Given the description of an element on the screen output the (x, y) to click on. 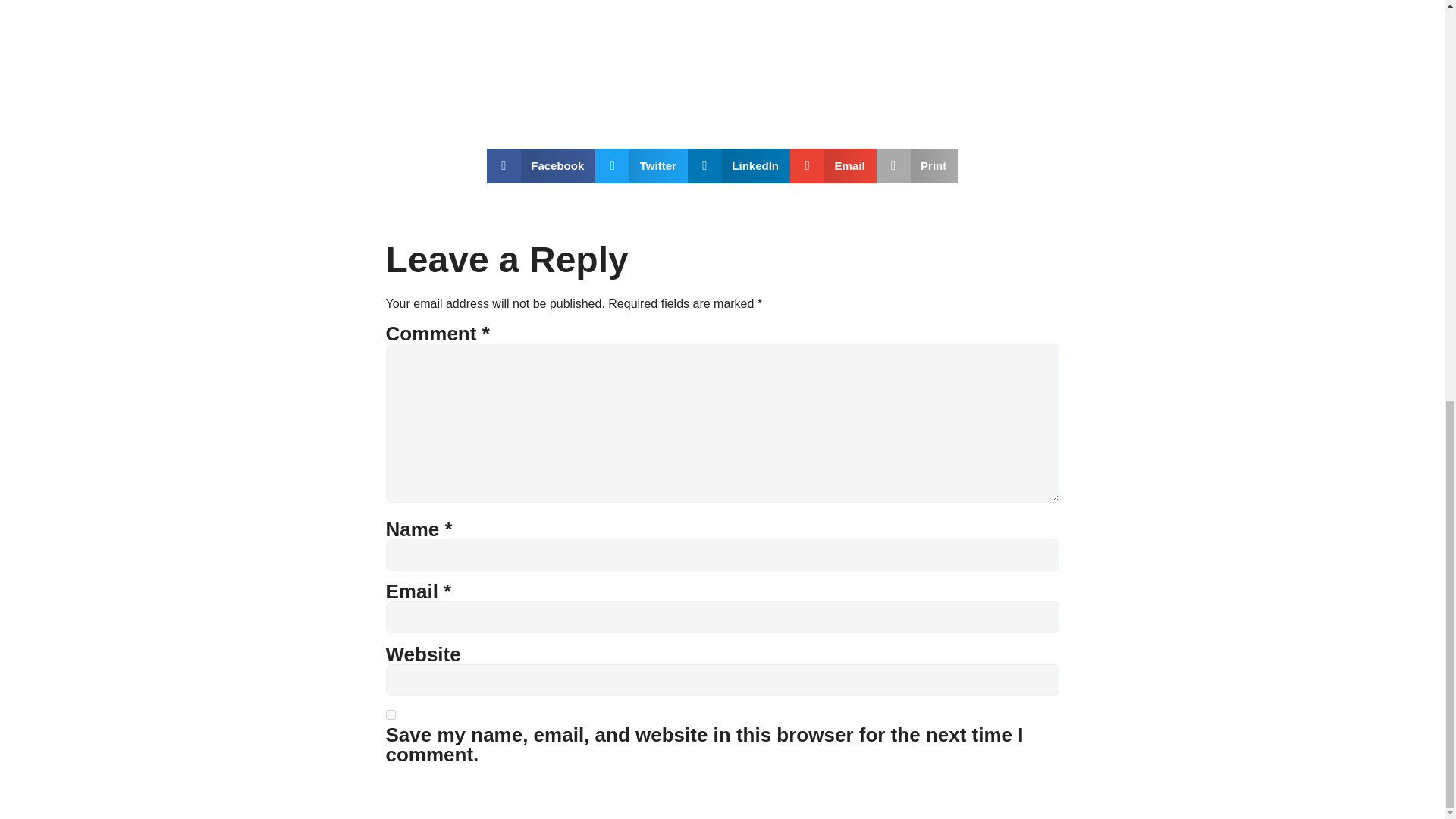
yes (389, 714)
